Given the description of an element on the screen output the (x, y) to click on. 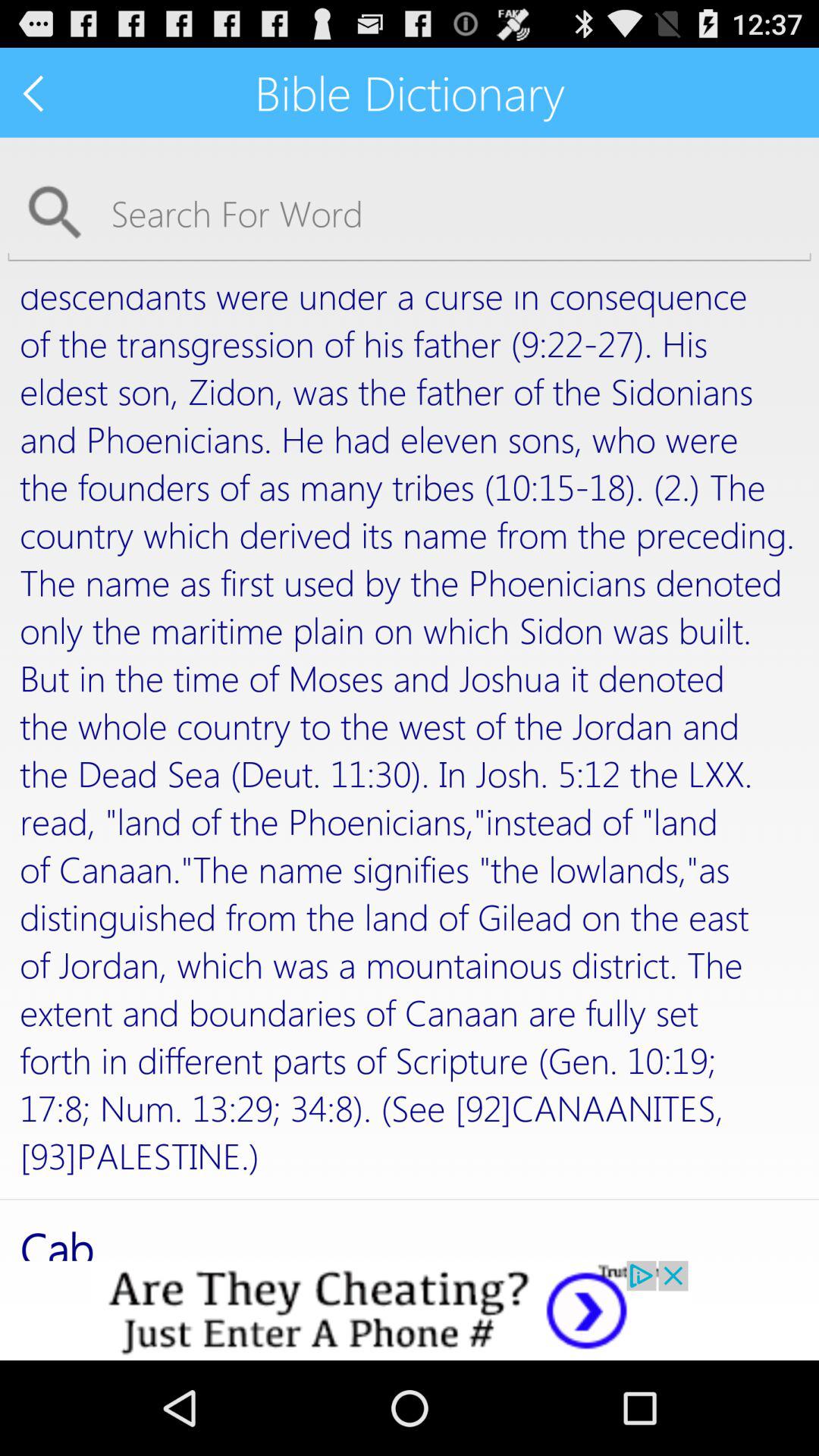
searching a word (409, 213)
